Given the description of an element on the screen output the (x, y) to click on. 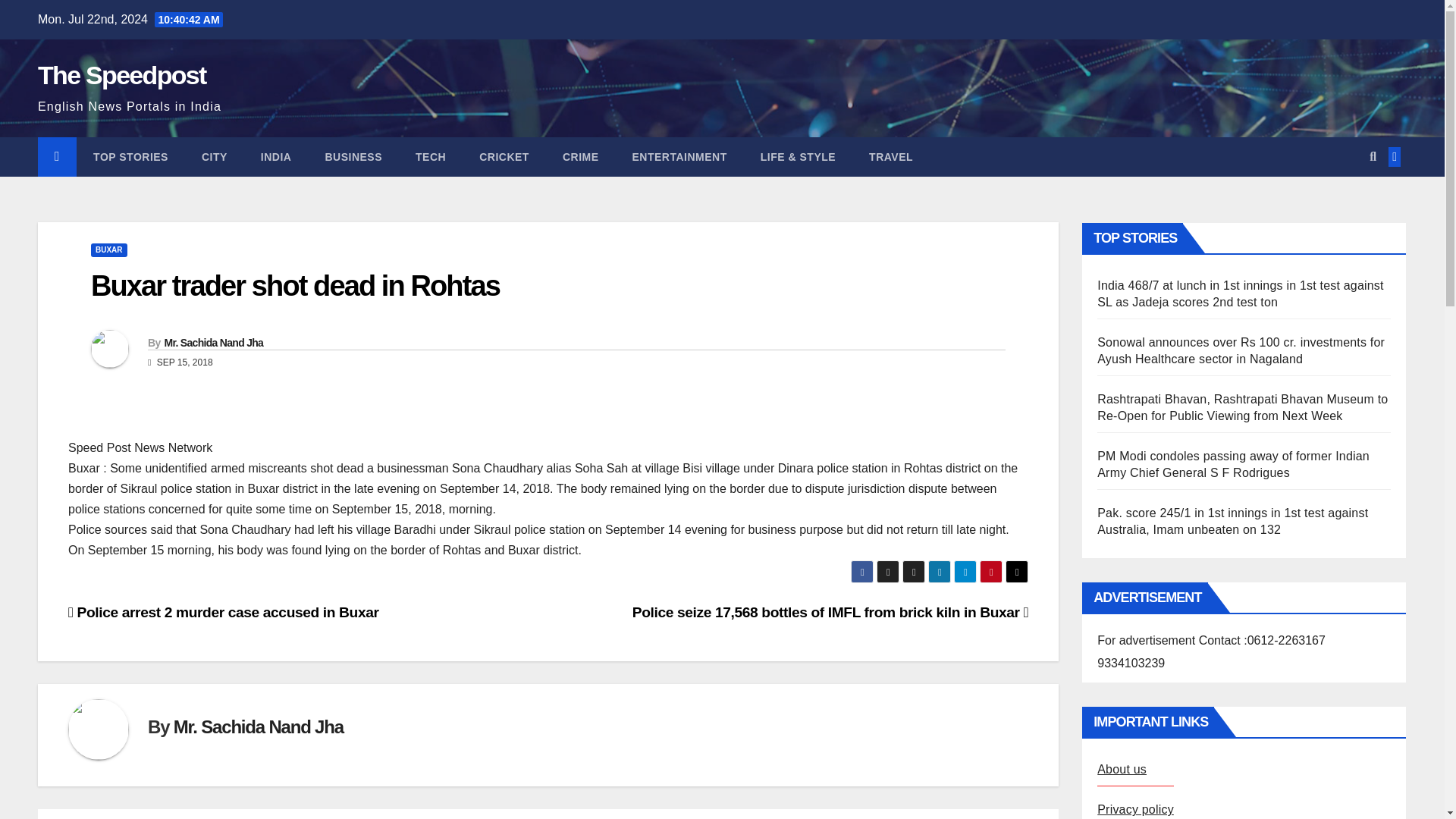
ENTERTAINMENT (679, 156)
Entertainment (679, 156)
Buxar trader shot dead in Rohtas (294, 286)
BUSINESS (352, 156)
The Speedpost (121, 74)
Top Stories (130, 156)
Police arrest 2 murder case accused in Buxar (223, 611)
CITY (214, 156)
Tech (430, 156)
CRIME (580, 156)
TRAVEL (890, 156)
TECH (430, 156)
Cricket (504, 156)
BUXAR (109, 250)
INDIA (276, 156)
